Given the description of an element on the screen output the (x, y) to click on. 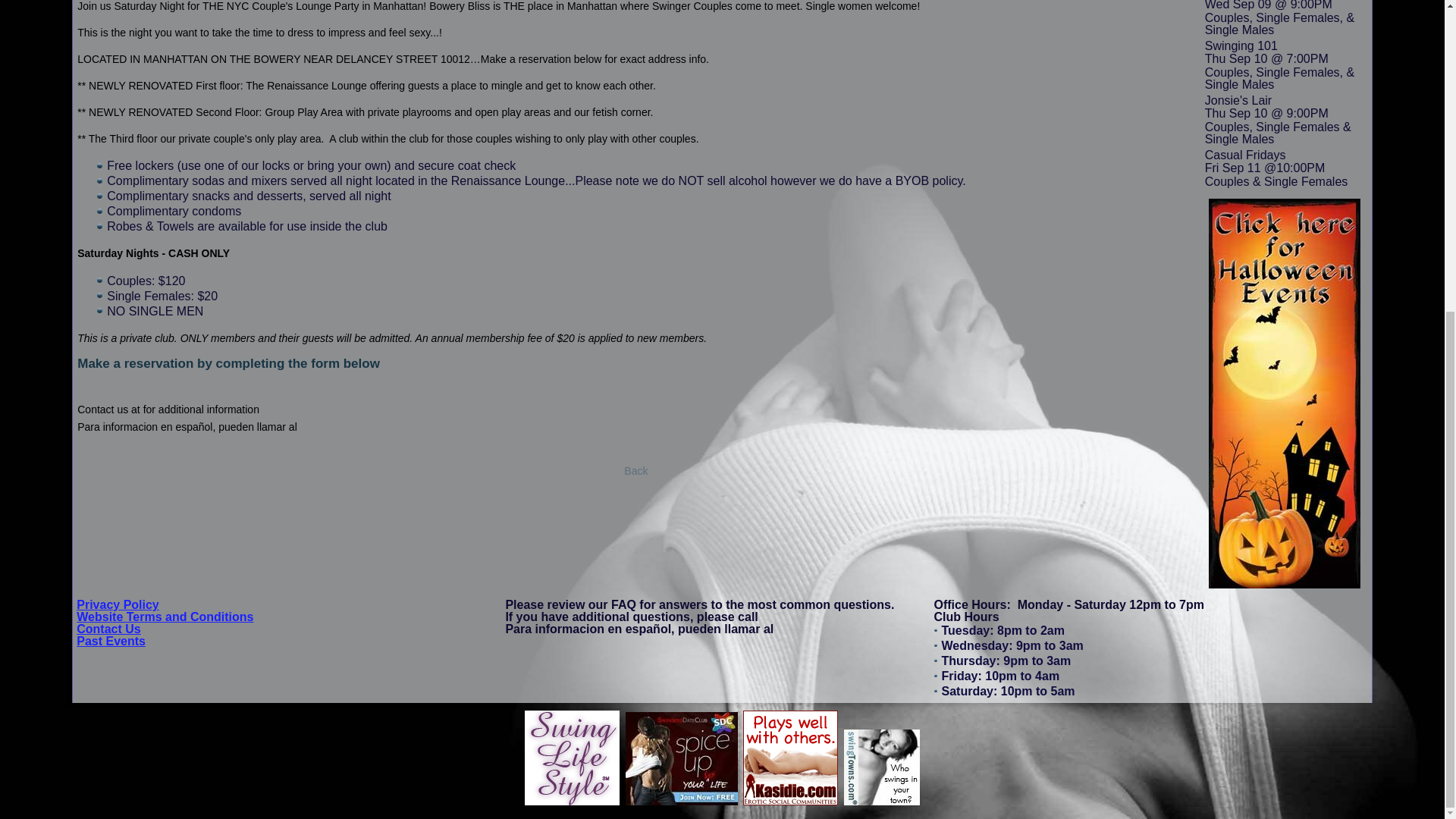
Past Events (111, 640)
Back (635, 470)
Back (635, 470)
Privacy Policy (117, 604)
Contact Us (108, 628)
Website Terms and Conditions (165, 616)
